Given the description of an element on the screen output the (x, y) to click on. 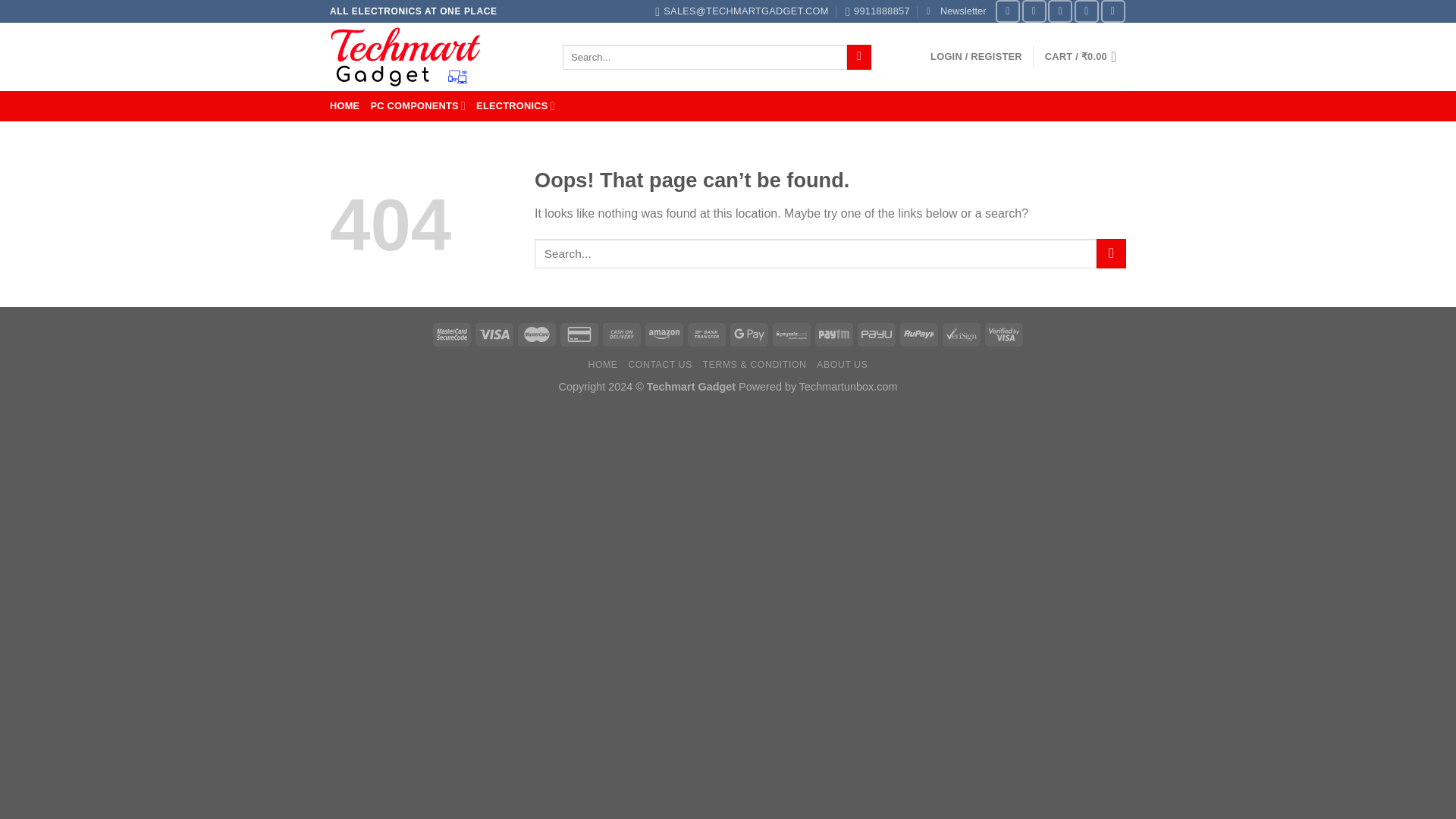
Sign up for Newsletter (955, 11)
Follow on Twitter (1059, 11)
Techmart Gadget - The No1 Online Gadget Store (435, 56)
Cart (1085, 56)
HOME (344, 105)
9911888857 (877, 11)
Call us (1112, 11)
PC COMPONENTS (417, 105)
Newsletter (955, 11)
ELECTRONICS (515, 105)
Send us an email (1086, 11)
9911888857 (877, 11)
Follow on Facebook (1007, 11)
Follow on Instagram (1034, 11)
Search (857, 57)
